Given the description of an element on the screen output the (x, y) to click on. 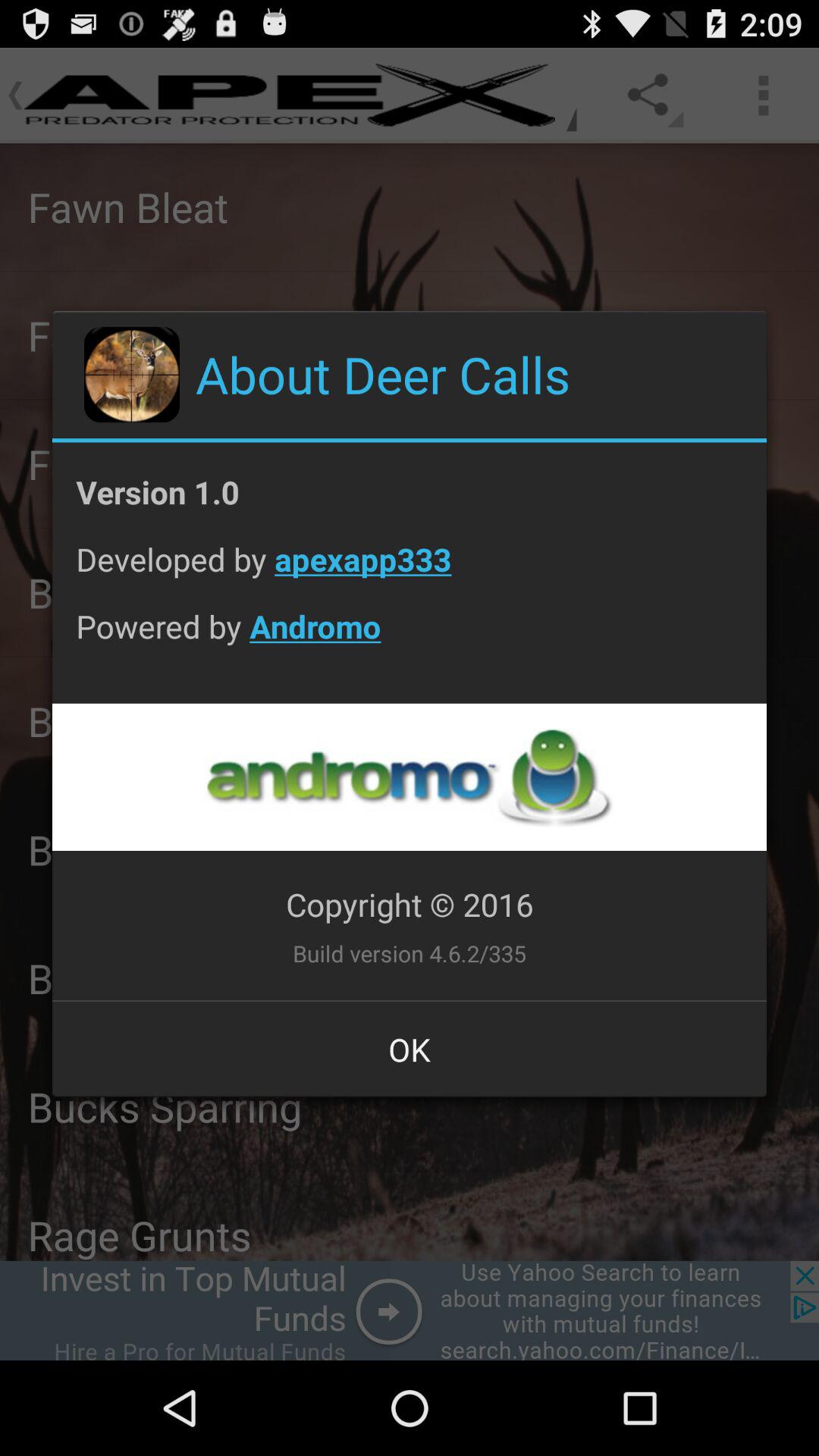
turn on app below the powered by andromo icon (408, 776)
